Given the description of an element on the screen output the (x, y) to click on. 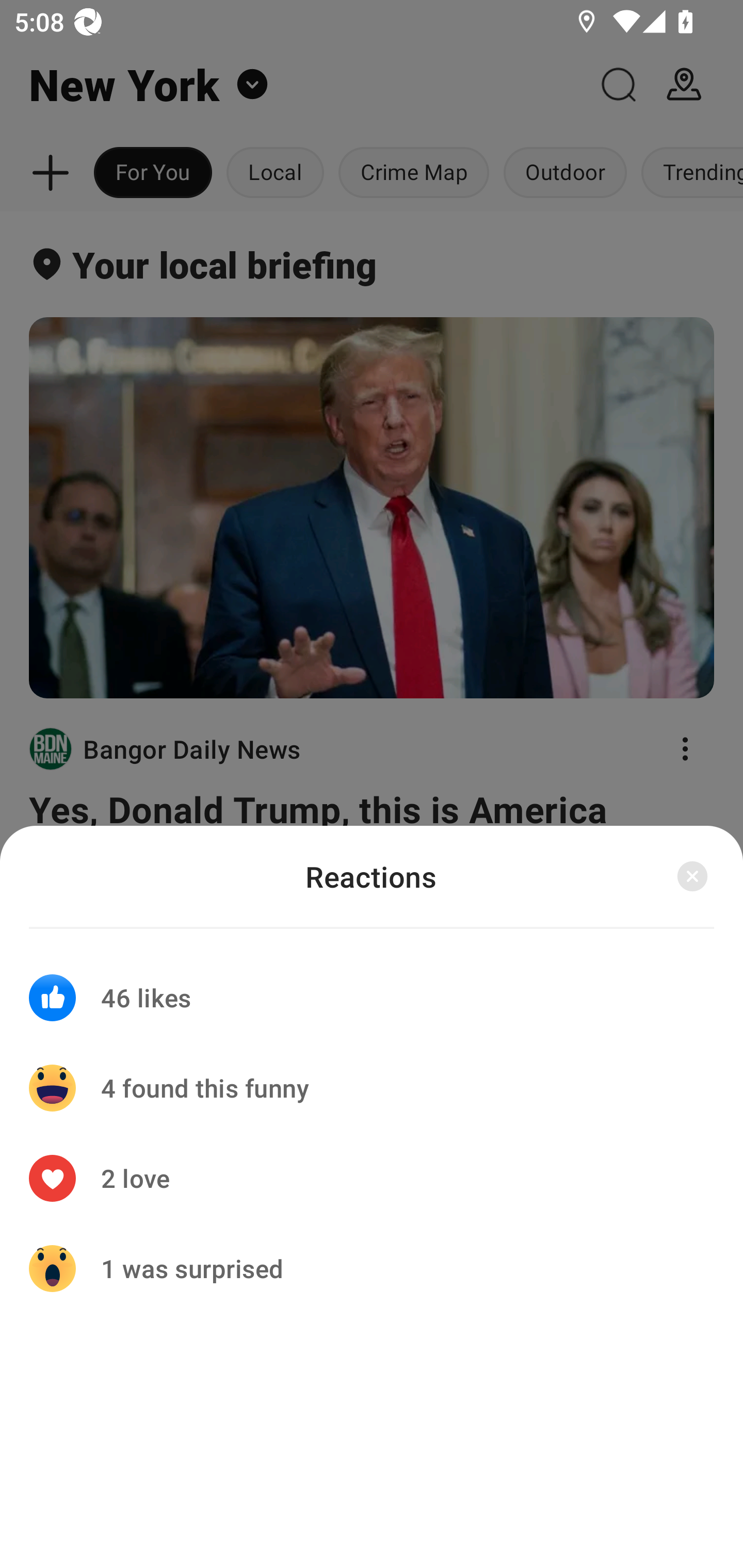
46 likes (371, 985)
4 found this funny (371, 1087)
2 love (371, 1178)
1 was surprised (371, 1268)
